Given the description of an element on the screen output the (x, y) to click on. 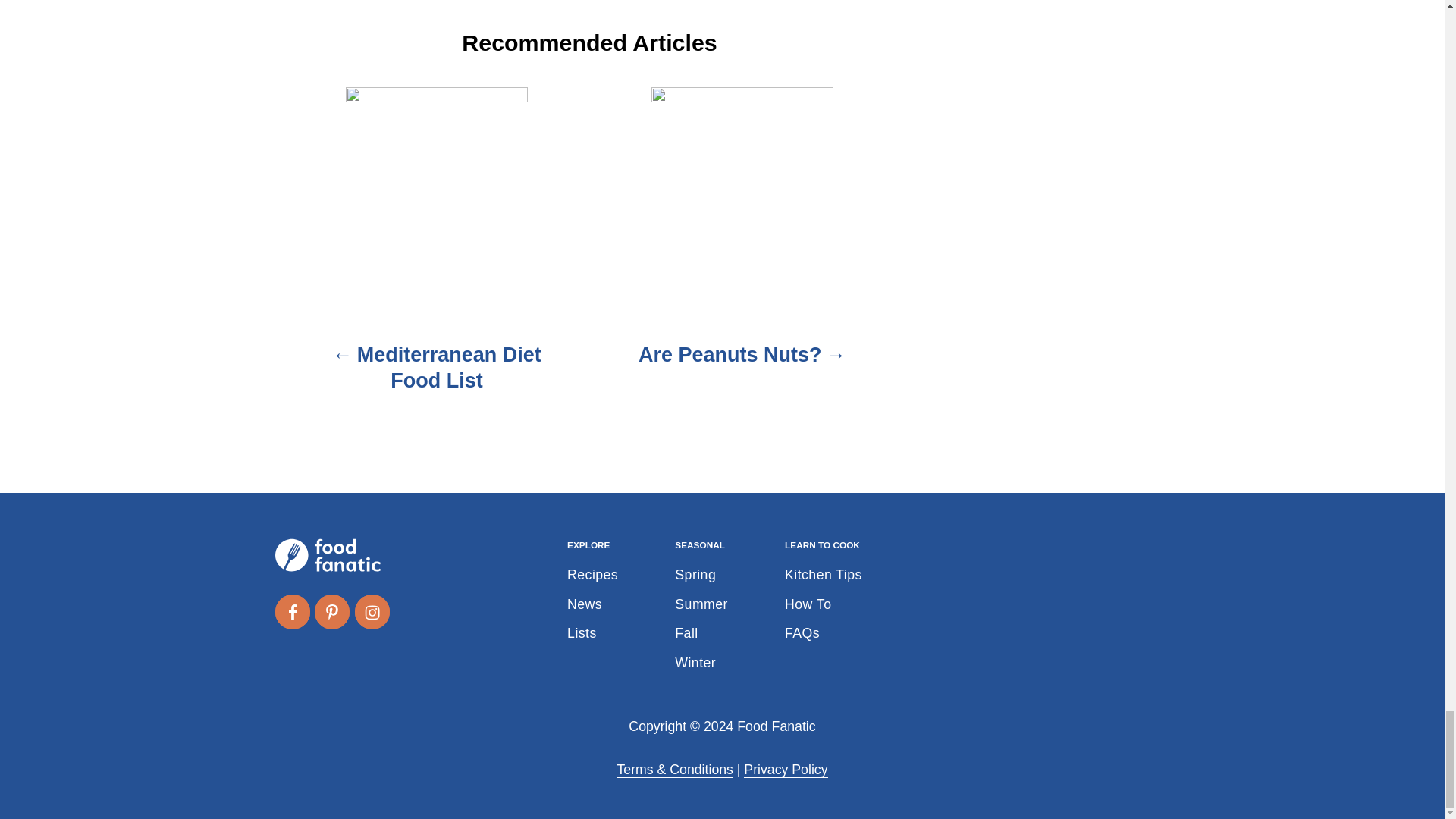
Follow on Pinterest (331, 611)
Follow on Instagram (372, 611)
Follow on Facebook (291, 611)
